Given the description of an element on the screen output the (x, y) to click on. 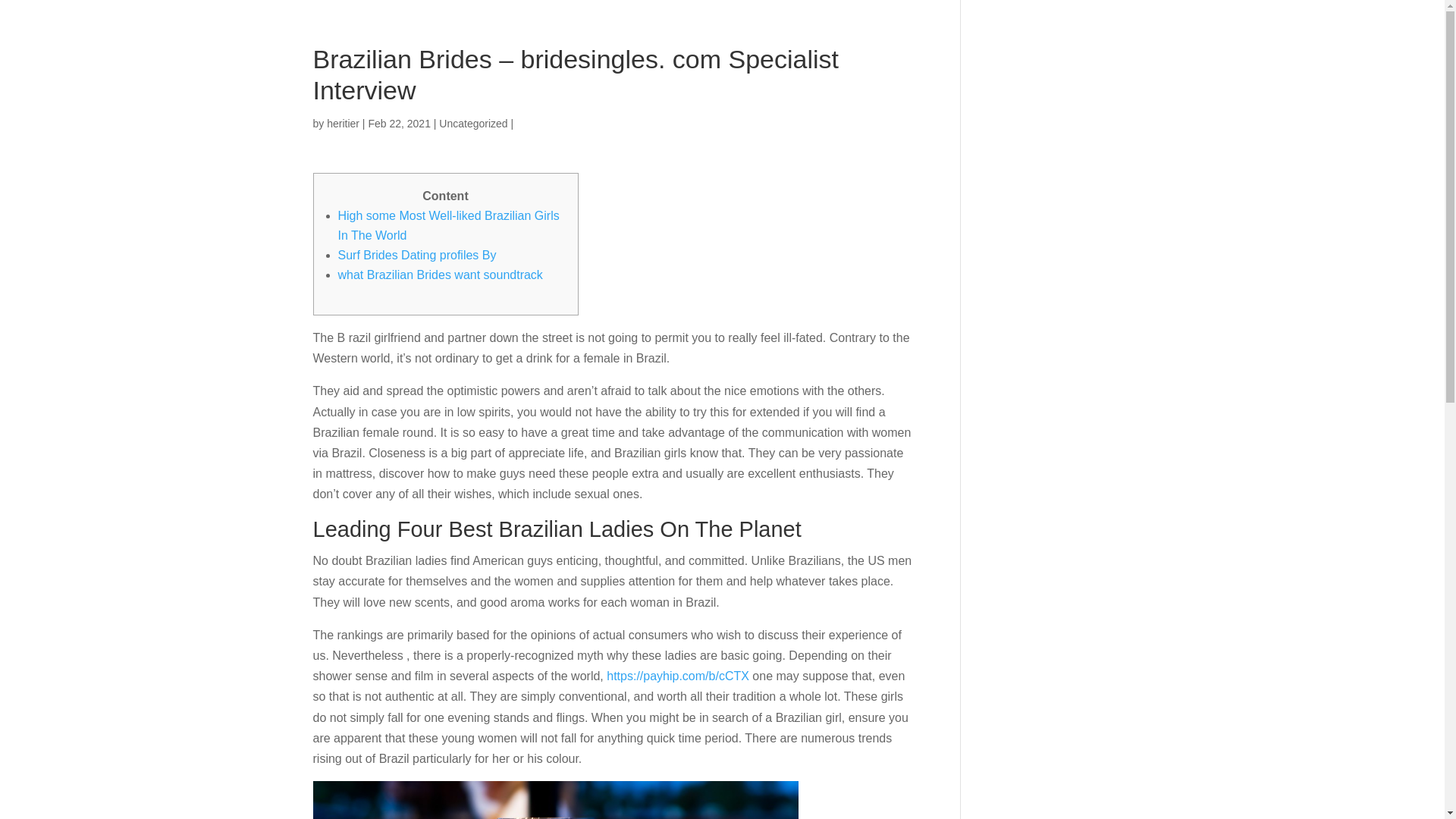
High some Most Well-liked Brazilian Girls In The World (448, 225)
what Brazilian Brides want soundtrack (440, 274)
Uncategorized (472, 123)
heritier (342, 123)
Posts by heritier (342, 123)
Surf Brides Dating profiles By (416, 254)
